Given the description of an element on the screen output the (x, y) to click on. 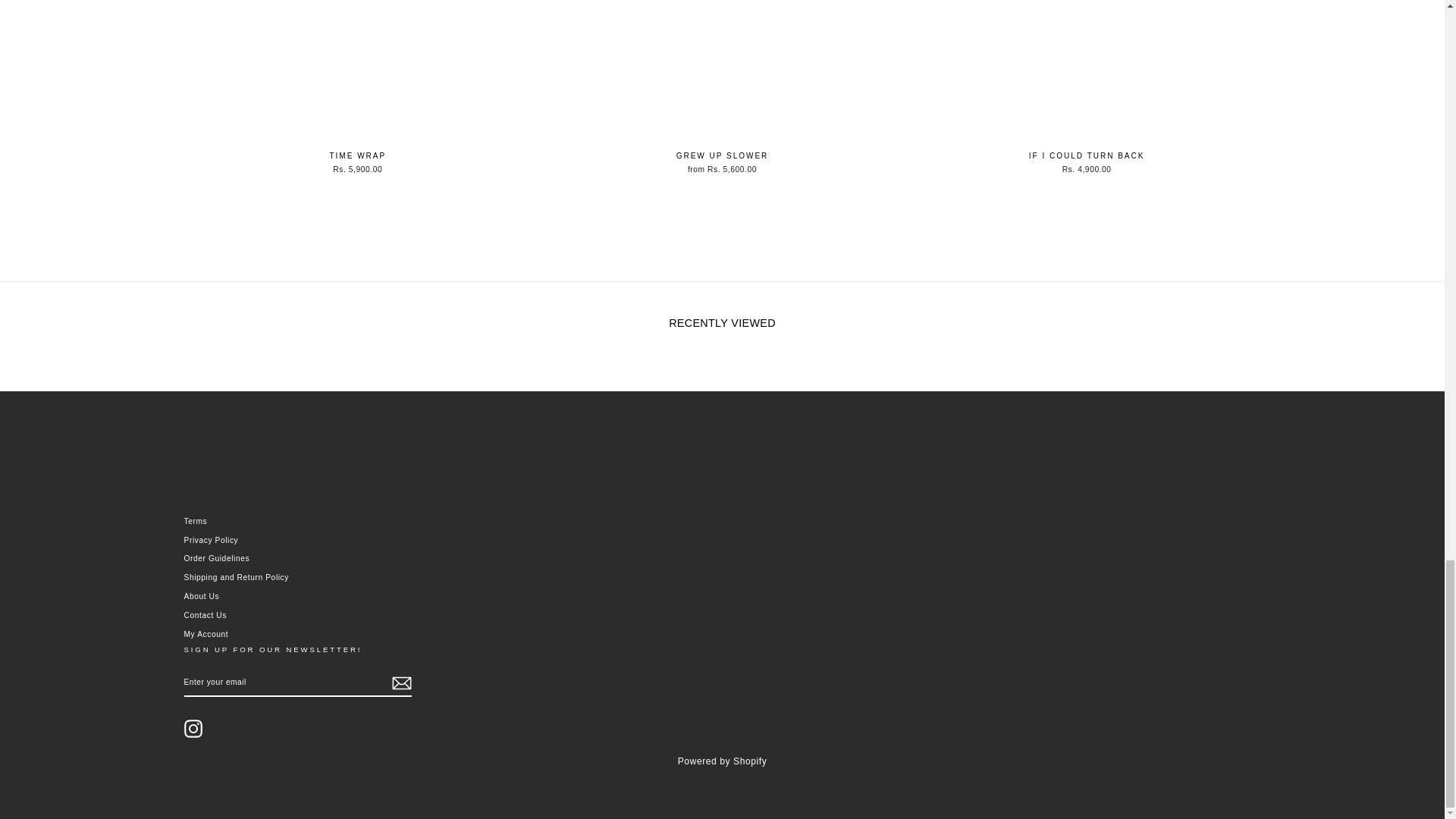
icon-email (400, 683)
erode.clothing on Instagram (192, 728)
instagram (192, 728)
